Given the description of an element on the screen output the (x, y) to click on. 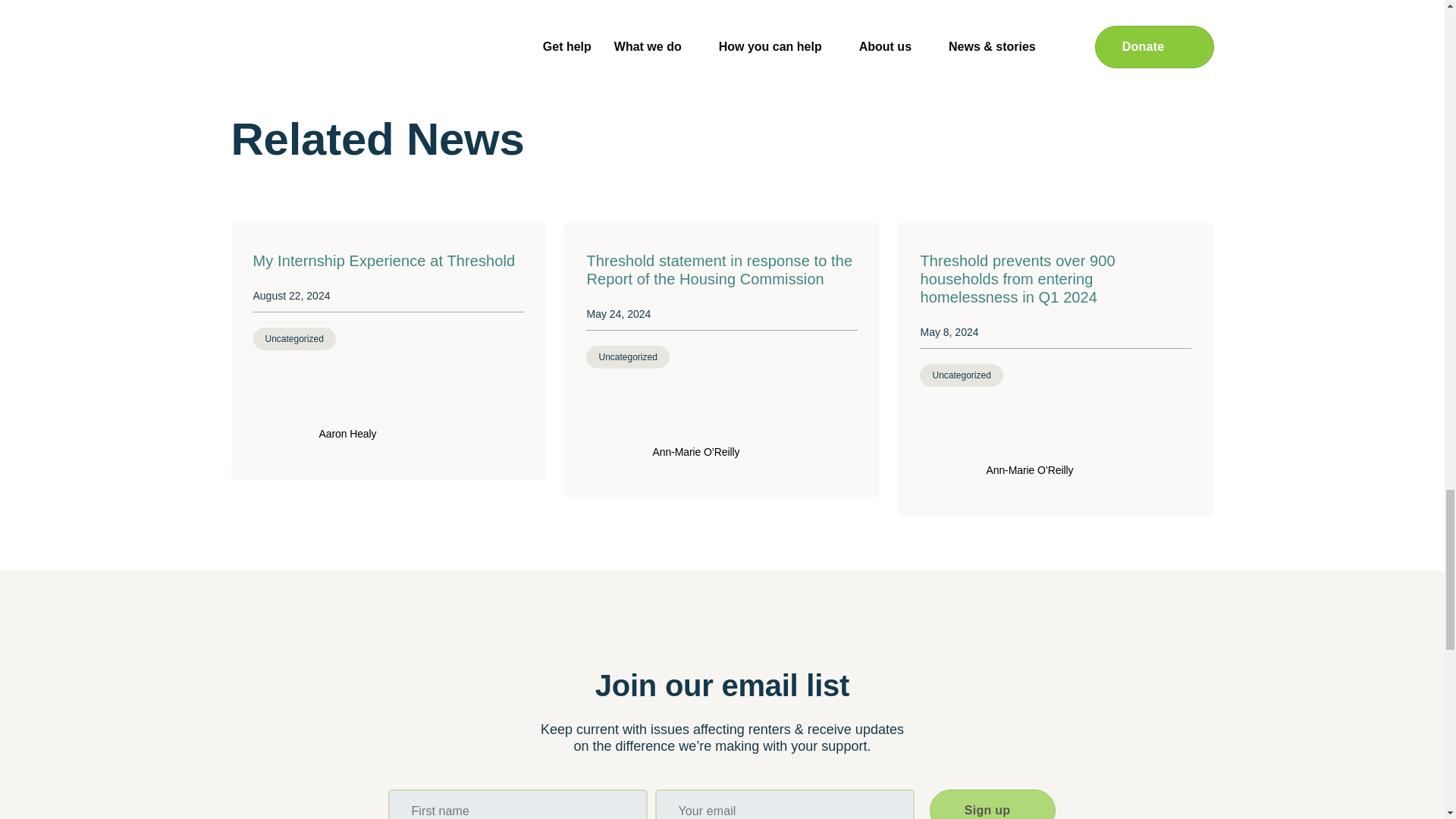
Sign up (992, 804)
Sign up (992, 804)
My Internship Experience at Threshold  (386, 260)
